Given the description of an element on the screen output the (x, y) to click on. 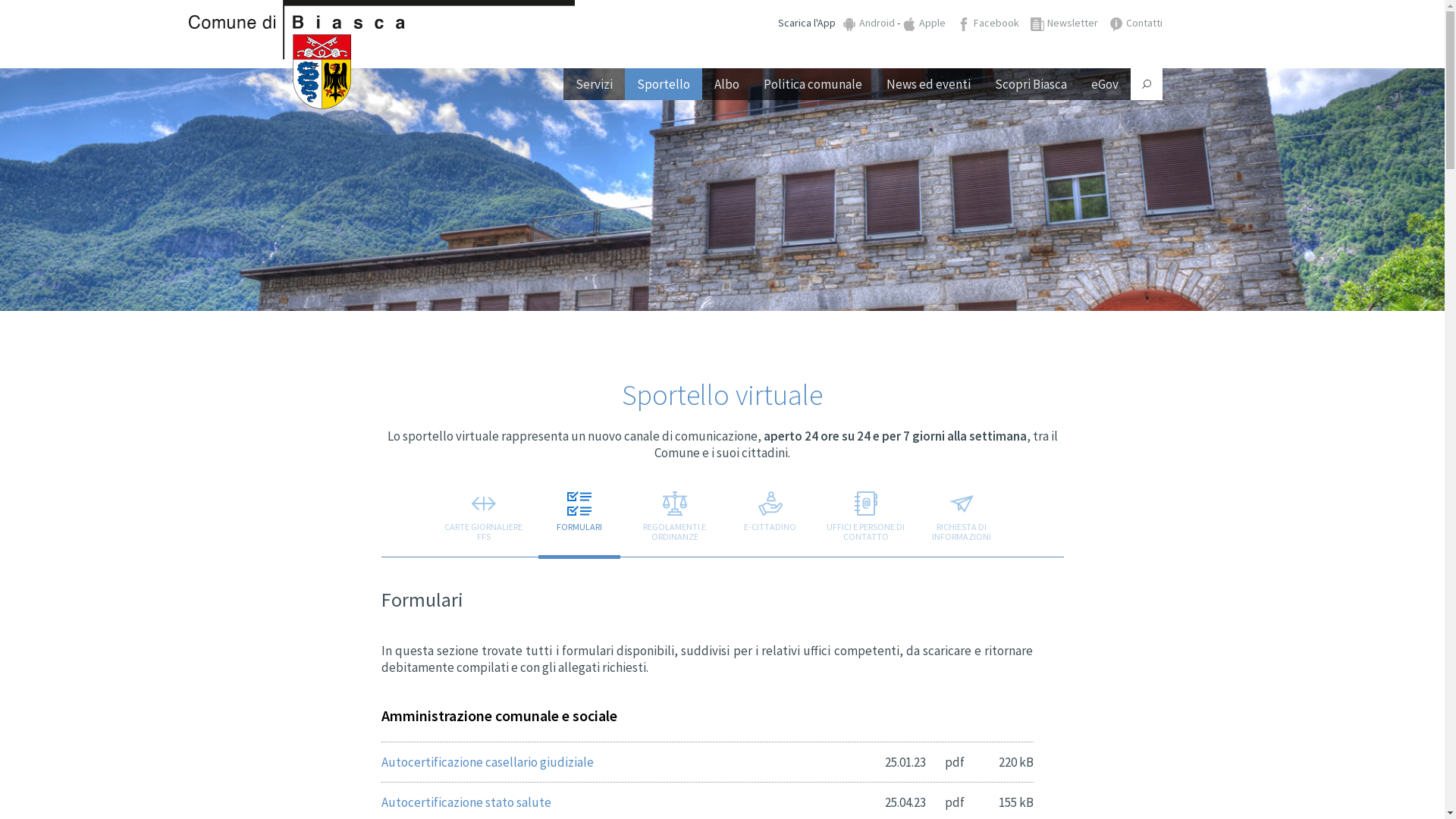
REGOLAMENTI E ORDINANZE Element type: text (674, 520)
RICHIESTA DI INFORMAZIONI Element type: text (961, 520)
Servizi Element type: text (593, 84)
Facebook Element type: text (988, 23)
CARTE GIORNALIERE FFS Element type: text (483, 520)
Autocertificazione stato salute Element type: text (465, 801)
  Element type: text (1074, 255)
Newsletter Element type: text (1063, 23)
Android Element type: text (867, 23)
Politica comunale Element type: text (811, 84)
Autocertificazione casellario giudiziale Element type: text (486, 761)
News ed eventi Element type: text (927, 84)
  Element type: text (1145, 84)
Scopri Biasca Element type: text (1030, 84)
E-CITTADINO Element type: text (770, 520)
UFFICI E PERSONE DI CONTATTO Element type: text (865, 520)
eGov Element type: text (1103, 84)
FORMULARI Element type: text (579, 520)
Sportello Element type: text (663, 84)
Contatti Element type: text (1134, 23)
Apple Element type: text (923, 23)
Albo Element type: text (726, 84)
